Given the description of an element on the screen output the (x, y) to click on. 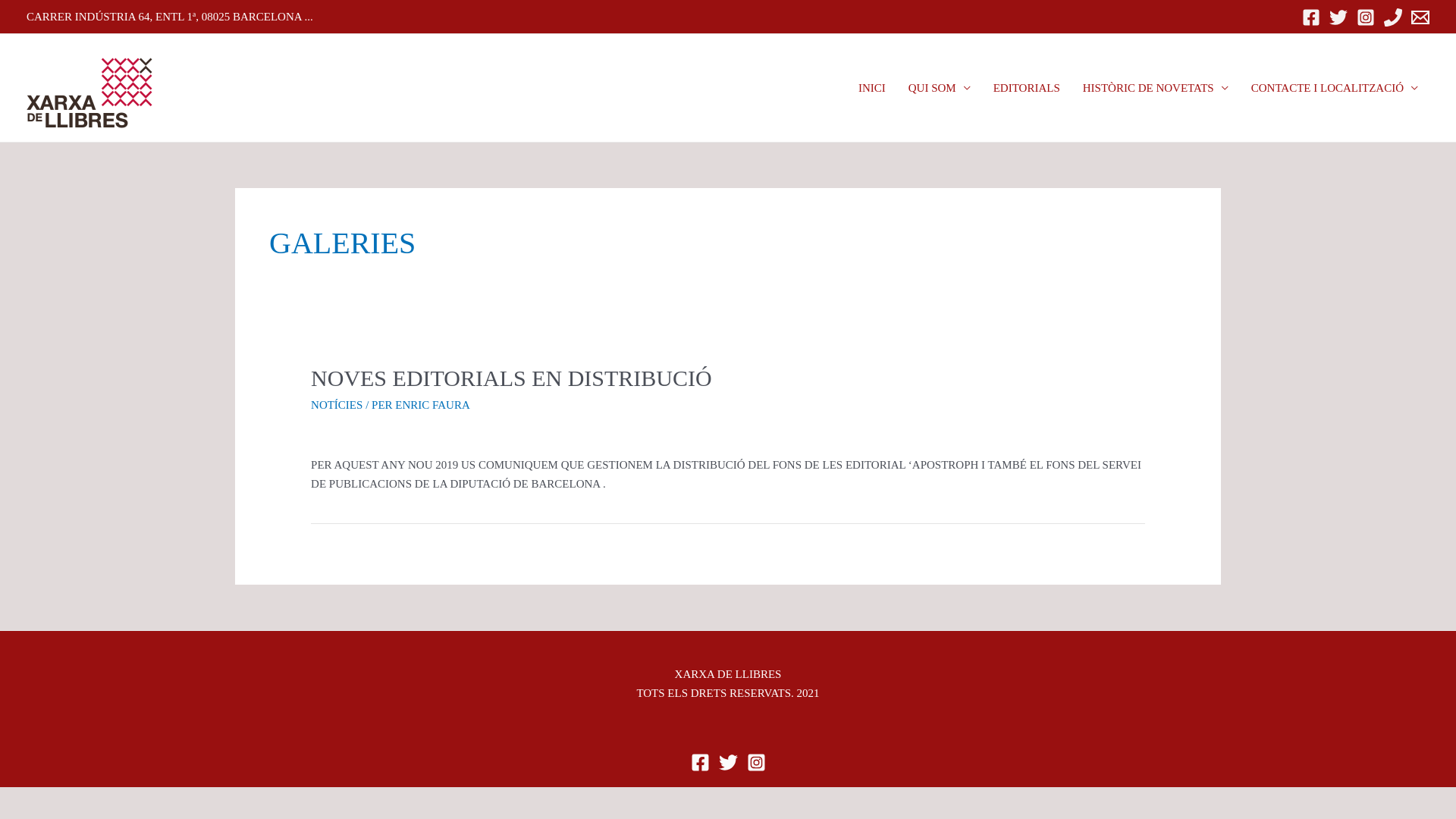
ENRIC FAURA Element type: text (432, 404)
QUI SOM Element type: text (939, 87)
EDITORIALS Element type: text (1026, 87)
INICI Element type: text (872, 87)
